Given the description of an element on the screen output the (x, y) to click on. 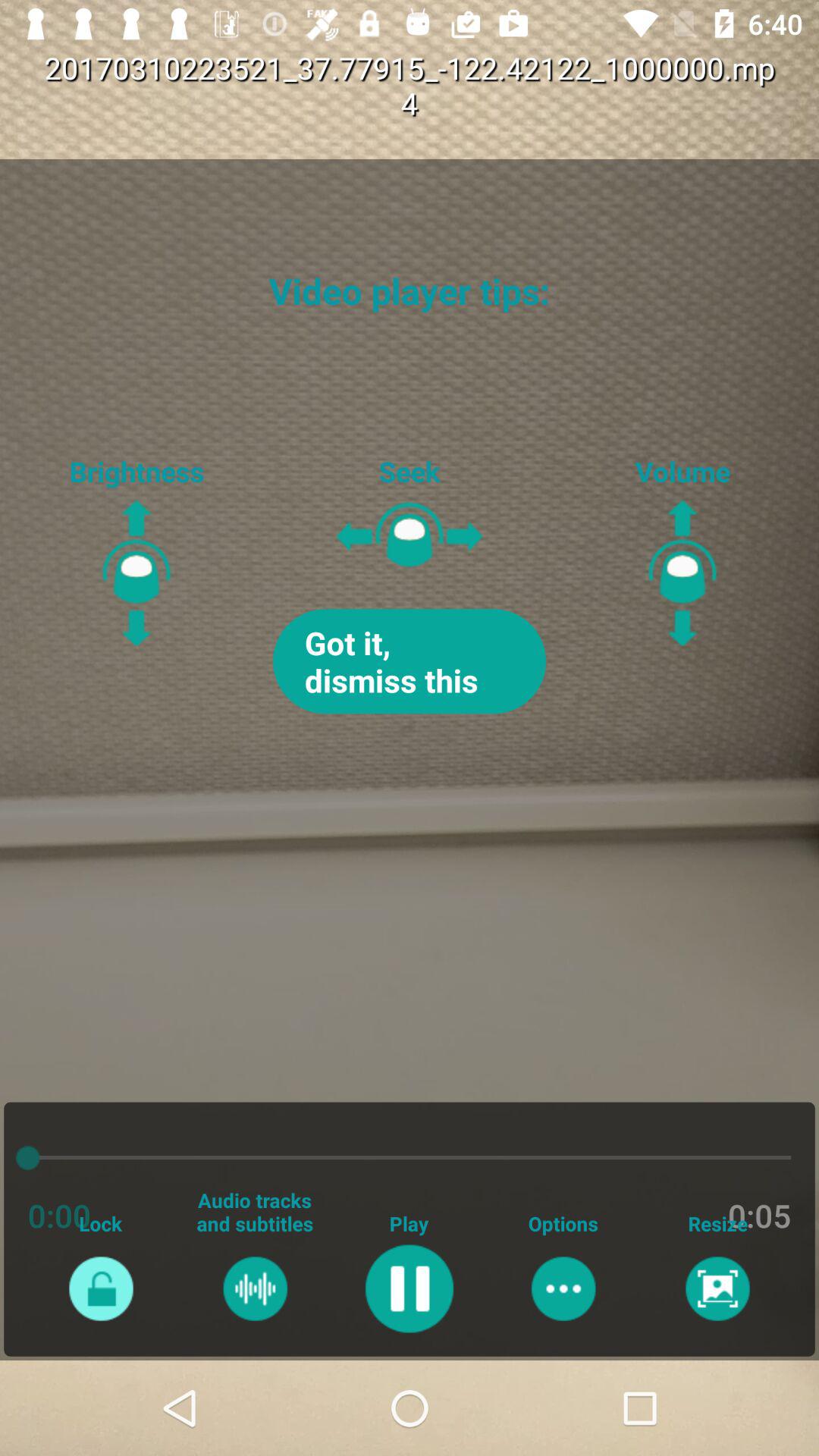
pause (409, 1288)
